Given the description of an element on the screen output the (x, y) to click on. 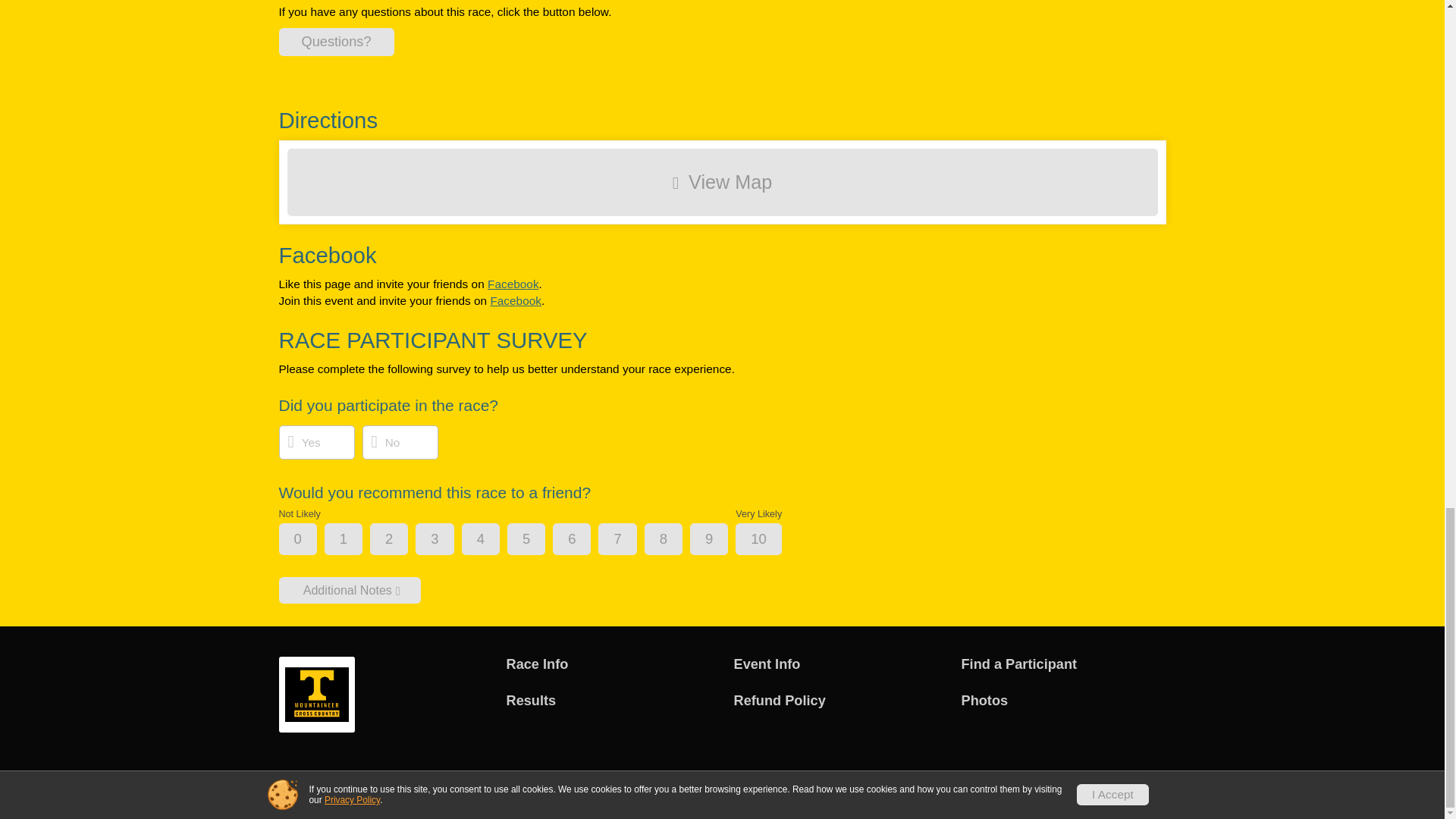
Questions? (336, 41)
Event Info (836, 664)
Race Info (608, 664)
6 (584, 540)
2 (401, 540)
Refund Policy (836, 700)
1 (355, 540)
4 (493, 540)
7 (629, 540)
Facebook (512, 283)
Additional Notes (349, 589)
5 (539, 540)
Facebook (515, 300)
0 (310, 540)
9 (721, 540)
